Given the description of an element on the screen output the (x, y) to click on. 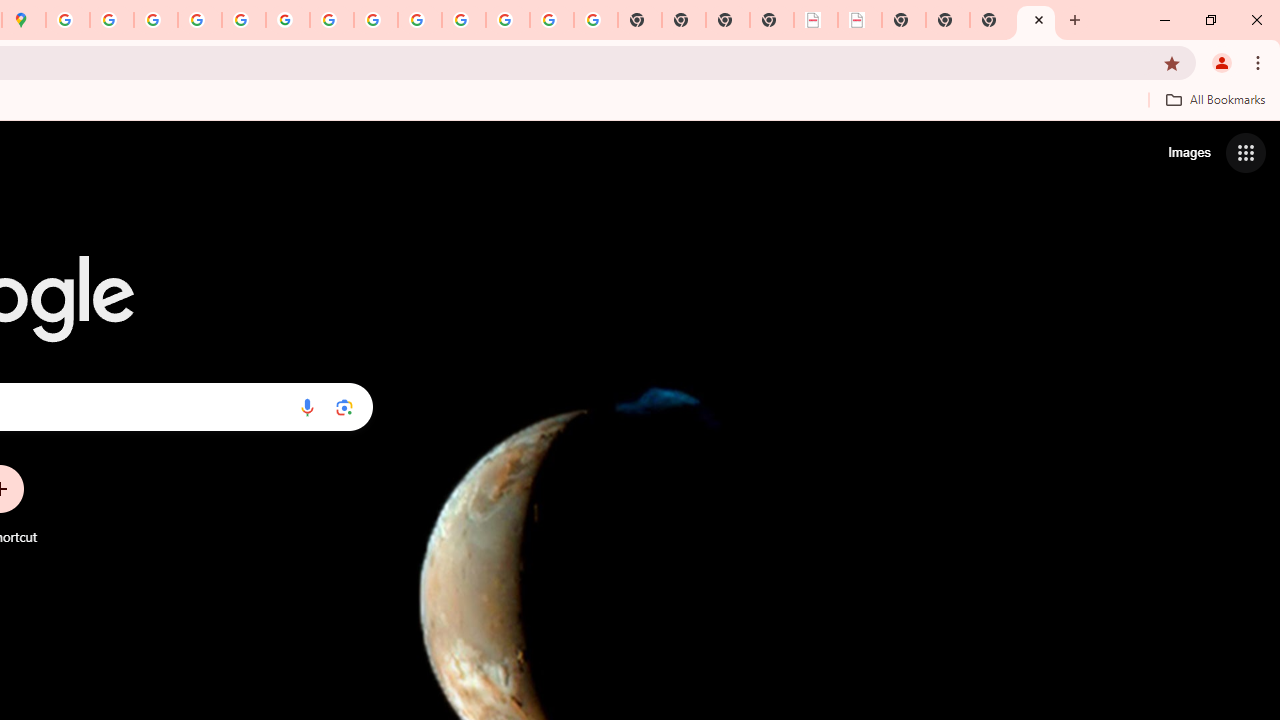
New Tab (991, 20)
New Tab (771, 20)
YouTube (331, 20)
LAAD Defence & Security 2025 | BAE Systems (815, 20)
